Given the description of an element on the screen output the (x, y) to click on. 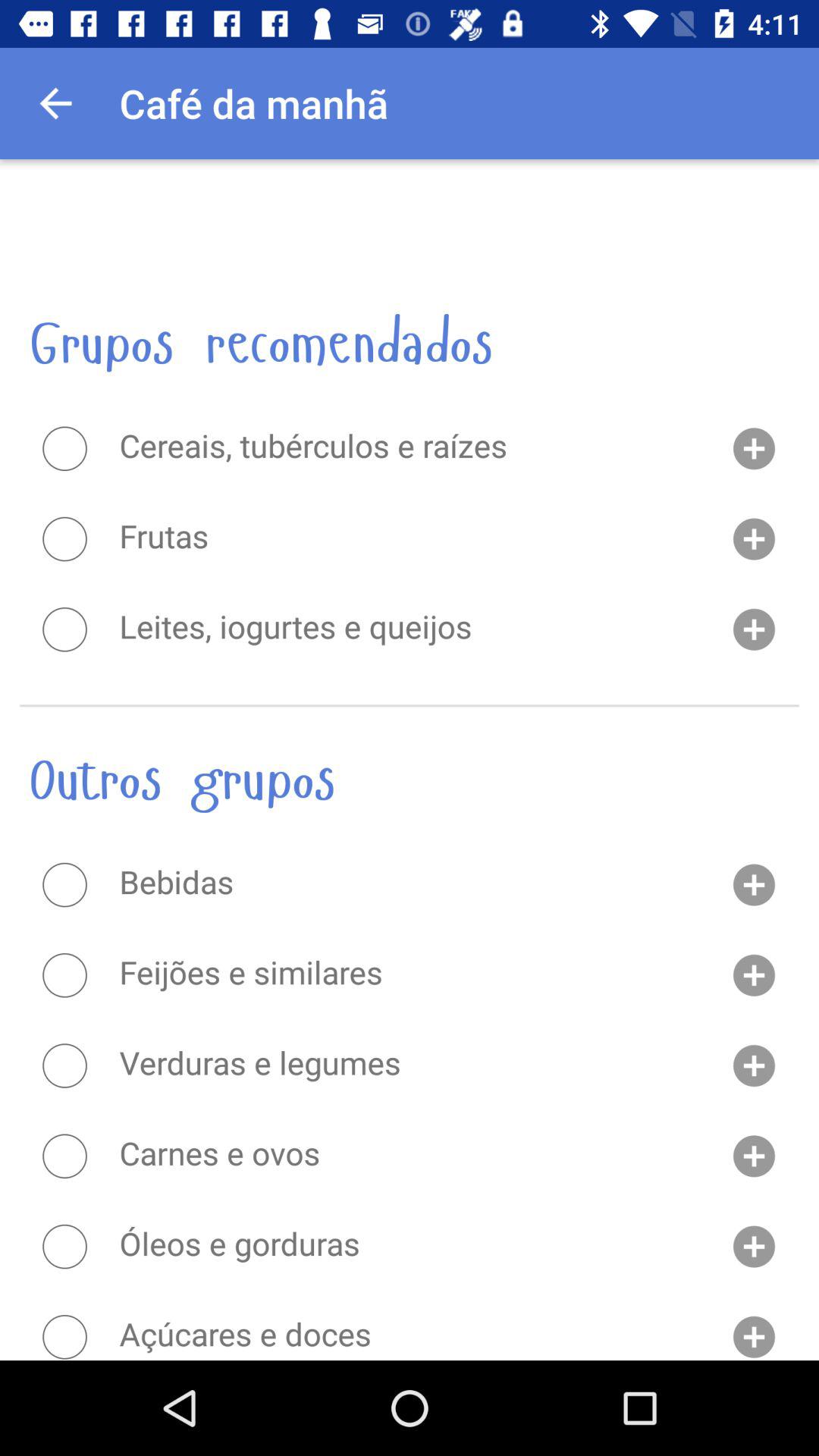
verduras e legumes (64, 1065)
